Given the description of an element on the screen output the (x, y) to click on. 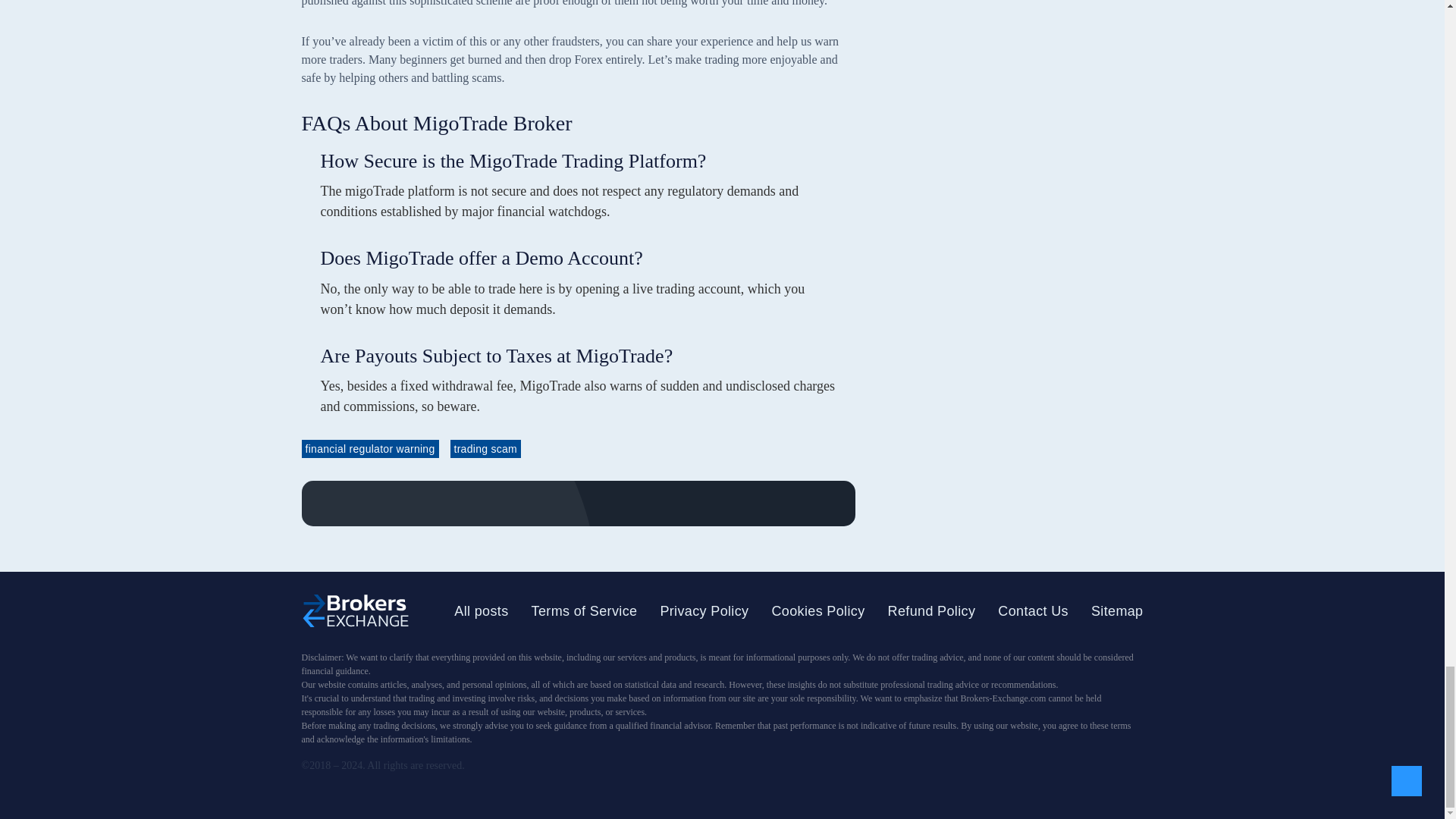
Cookies Policy (817, 611)
Refund Policy (931, 611)
All posts (481, 611)
Privacy Policy (703, 611)
financial regulator warning (370, 448)
Terms of Service (584, 611)
trading scam (485, 448)
